Given the description of an element on the screen output the (x, y) to click on. 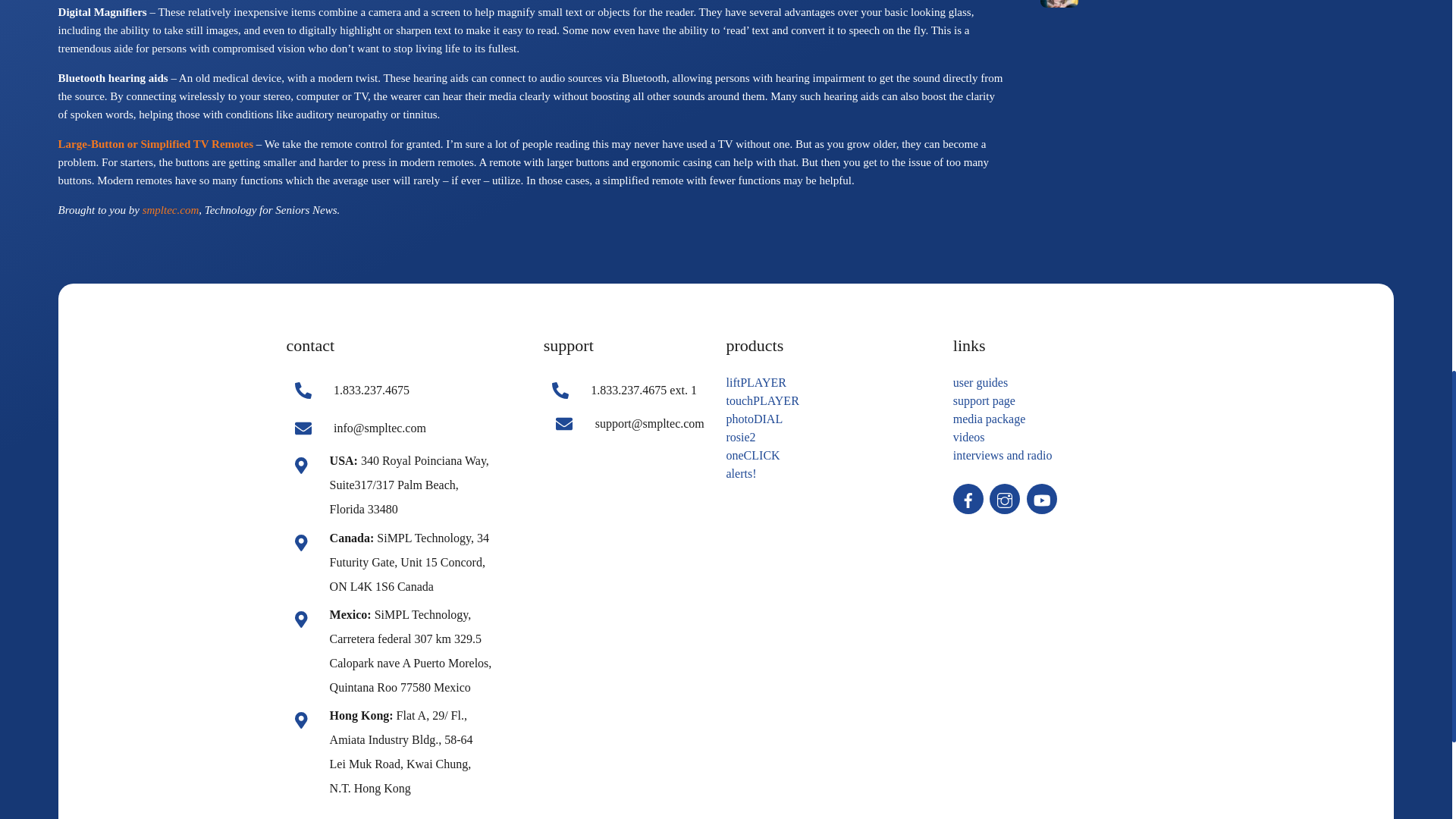
smpltec.com (170, 209)
Large-Button or Simplified TV Remotes (155, 143)
